Given the description of an element on the screen output the (x, y) to click on. 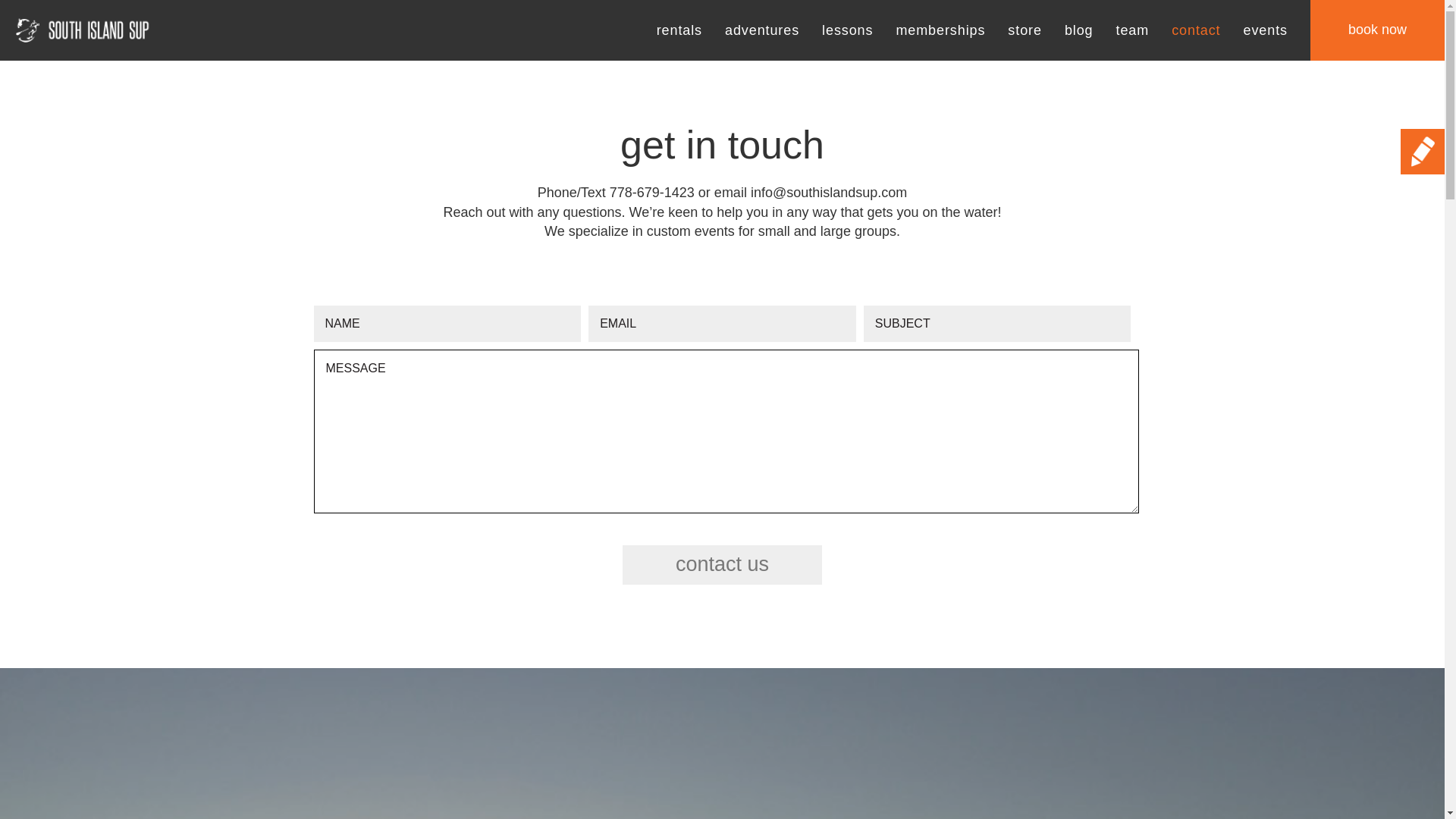
events (1265, 30)
contact us (722, 564)
team (1133, 30)
contact us (722, 564)
blog (1078, 30)
lessons (847, 30)
adventures (762, 30)
store (1024, 30)
contact (1196, 30)
